Given the description of an element on the screen output the (x, y) to click on. 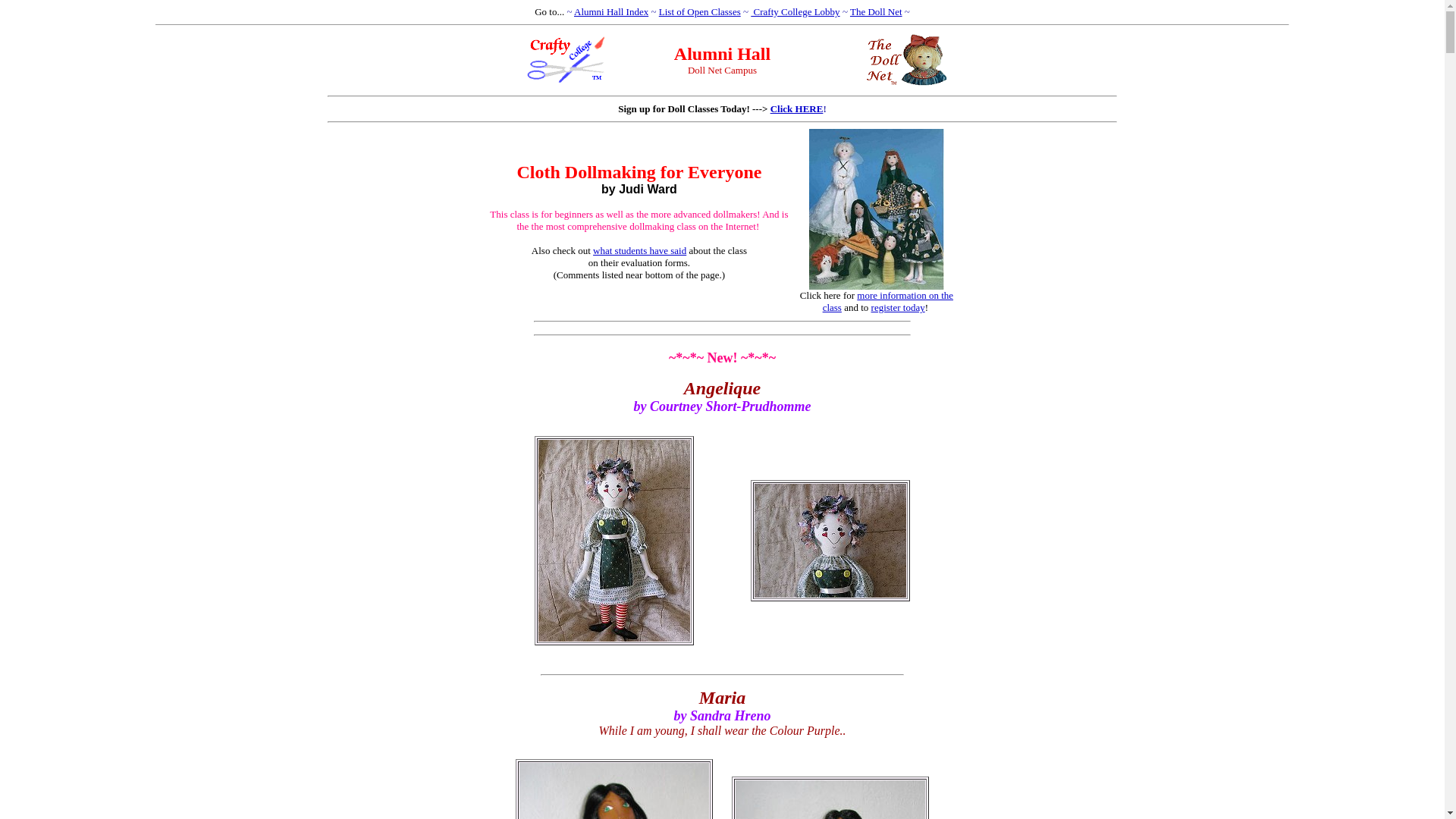
more information on the class (887, 300)
Alumni Hall Index (610, 11)
Crafty College Lobby (795, 11)
The Doll Net (876, 11)
List of Open Classes (700, 11)
what students have said (638, 249)
register today (897, 307)
Click HERE (797, 108)
